Given the description of an element on the screen output the (x, y) to click on. 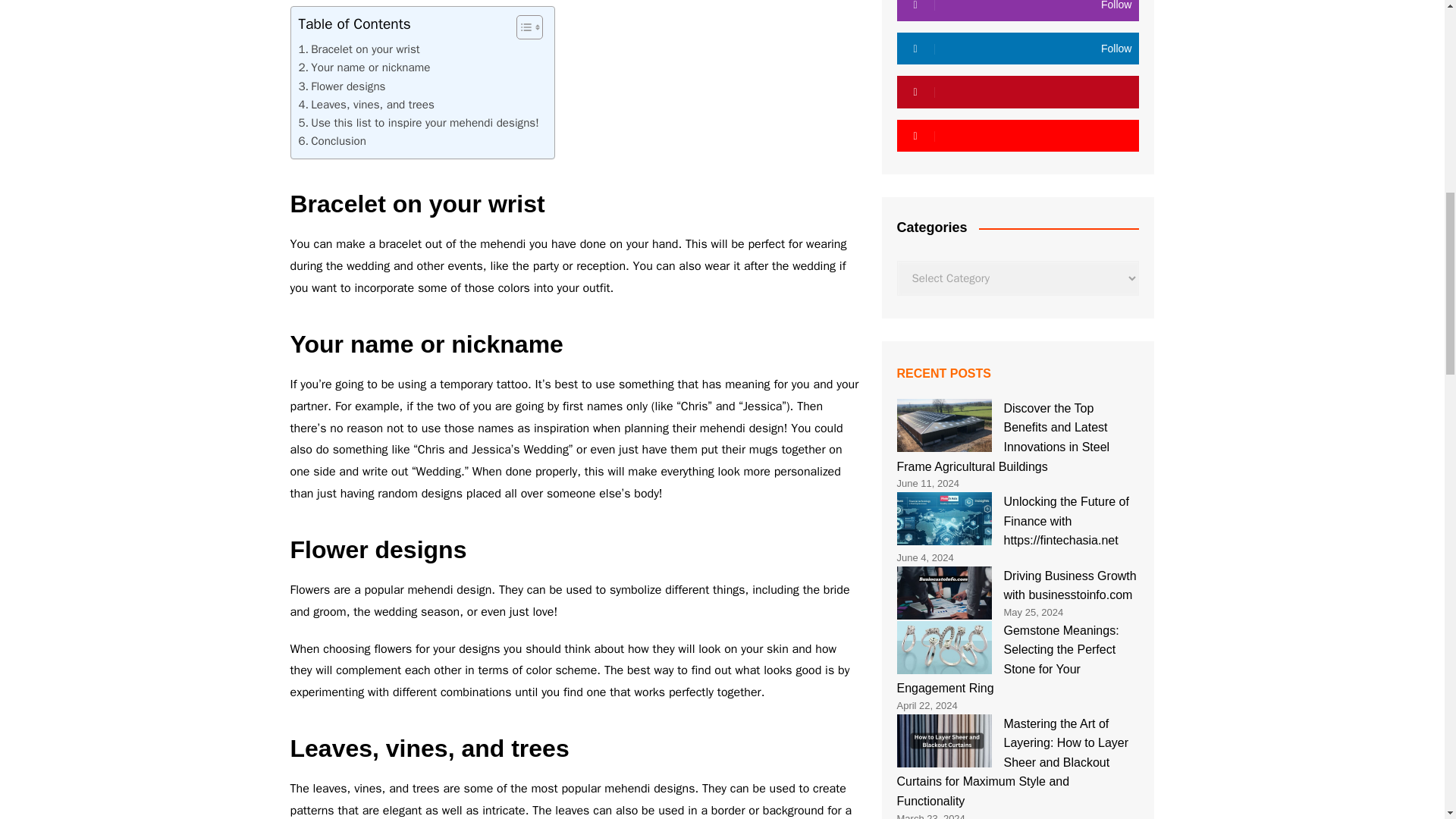
Your name or nickname (364, 67)
Leaves, vines, and trees (365, 104)
Flower designs (341, 85)
Conclusion (332, 140)
Use this list to inspire your mehendi designs! (418, 122)
Your name or nickname (364, 67)
Bracelet on your wrist (359, 49)
Use this list to inspire your mehendi designs! (418, 122)
Bracelet on your wrist (359, 49)
Leaves, vines, and trees (365, 104)
